Given the description of an element on the screen output the (x, y) to click on. 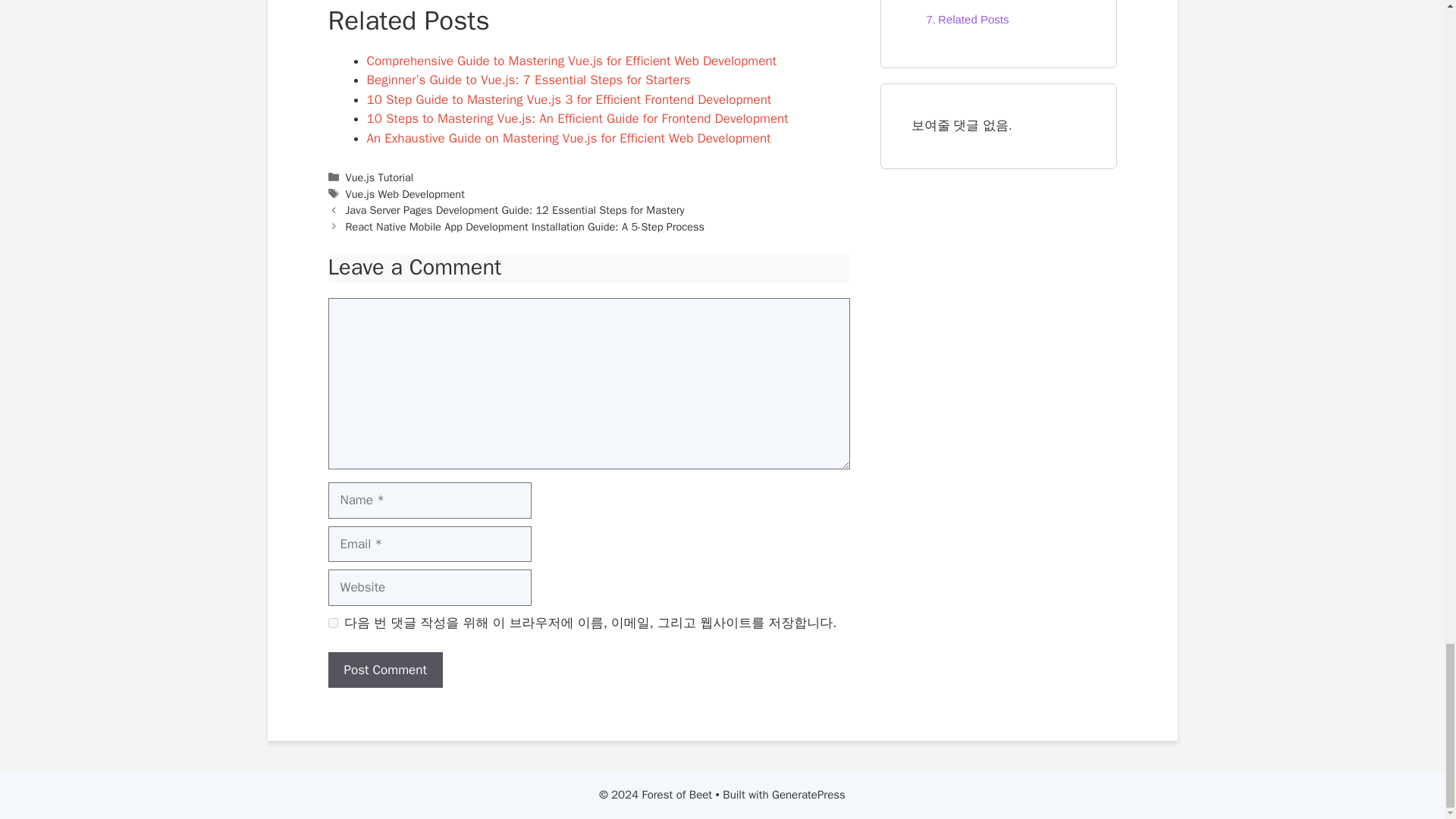
Vue.js Tutorial (379, 177)
Post Comment (384, 669)
Post Comment (384, 669)
Assuring Quality in Vue.js (992, 1)
Vue.js Web Development (405, 193)
yes (332, 623)
Related Posts (963, 19)
